Given the description of an element on the screen output the (x, y) to click on. 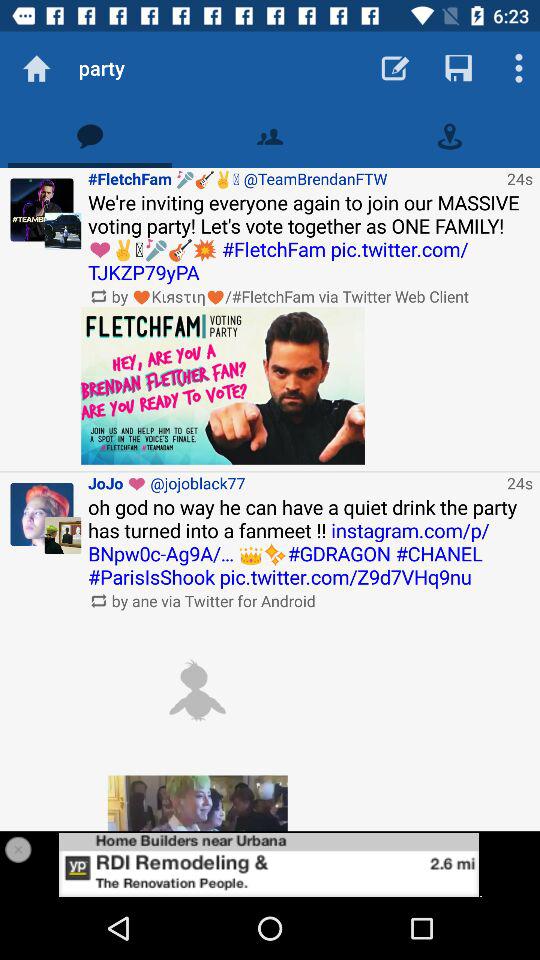
turn on item to the left of the 24s item (223, 385)
